Given the description of an element on the screen output the (x, y) to click on. 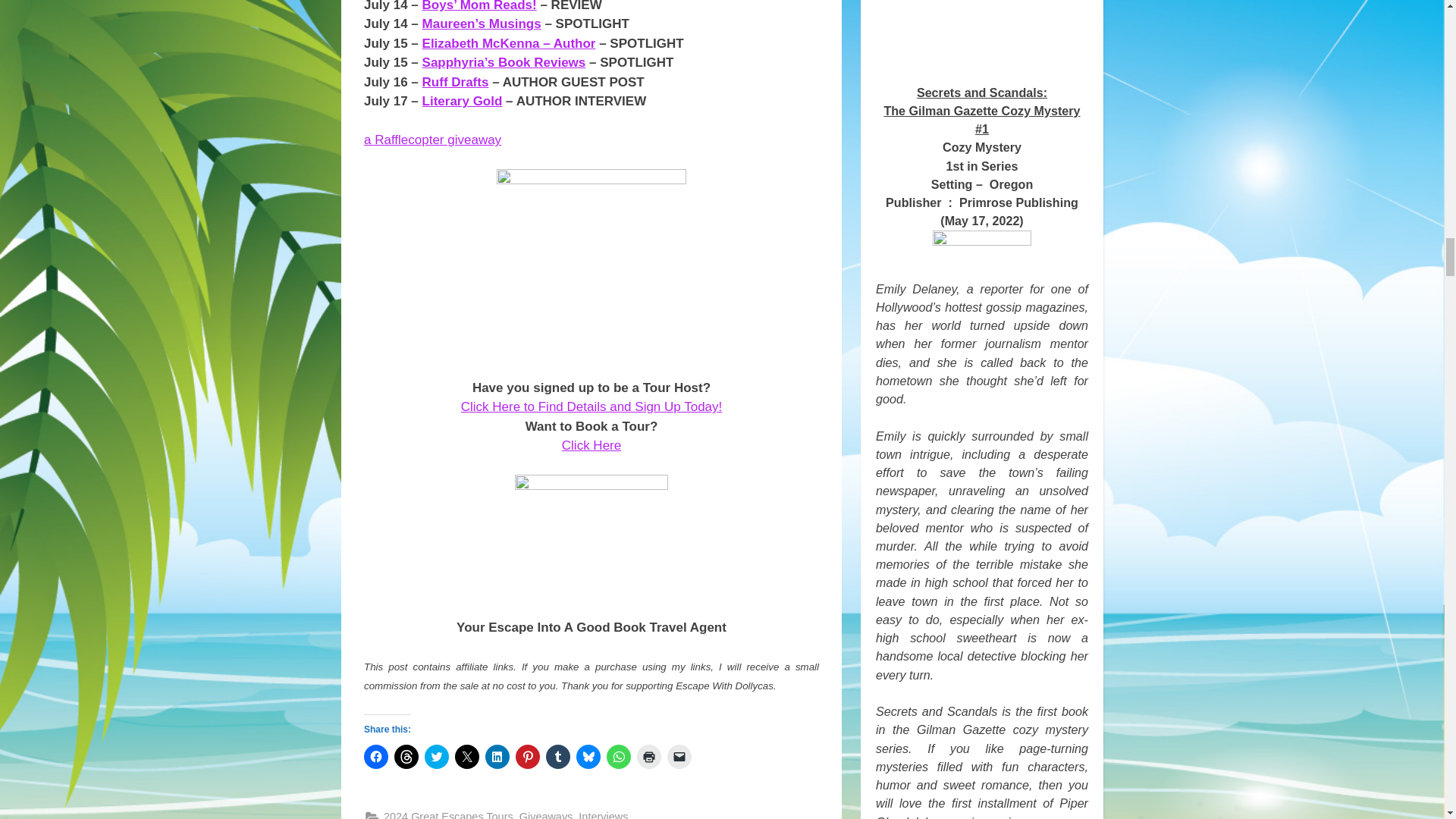
Click to email a link to a friend (678, 756)
Click to share on Facebook (376, 756)
Click to share on X (466, 756)
Click to share on Pinterest (527, 756)
Click to share on WhatsApp (618, 756)
Click to share on LinkedIn (496, 756)
Click to share on Twitter (436, 756)
Click to share on Threads (406, 756)
Click to share on Bluesky (587, 756)
Click to print (649, 756)
